Given the description of an element on the screen output the (x, y) to click on. 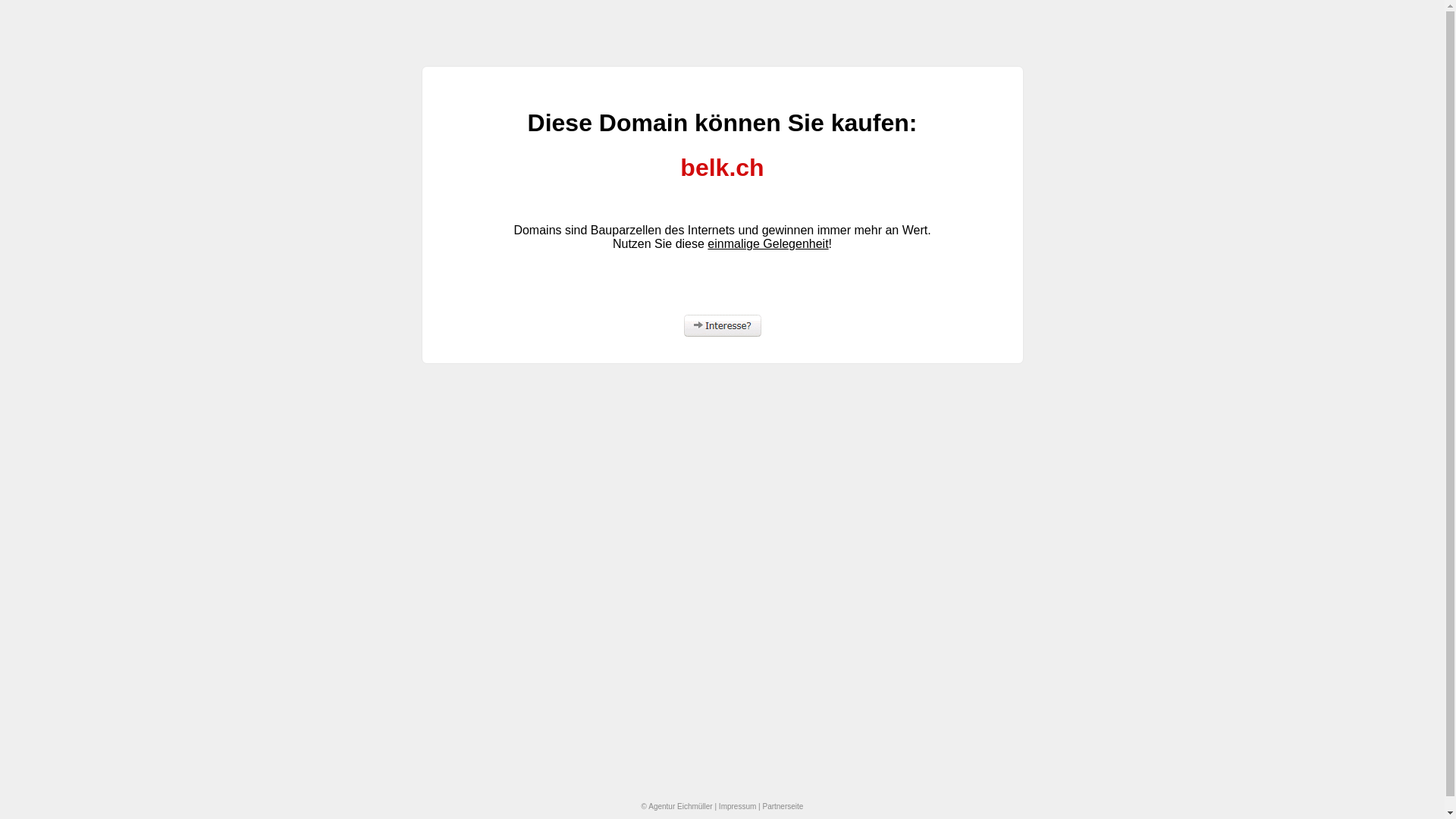
belk.ch Element type: text (721, 167)
Impressum Element type: text (737, 806)
Partnerseite Element type: text (782, 806)
